Given the description of an element on the screen output the (x, y) to click on. 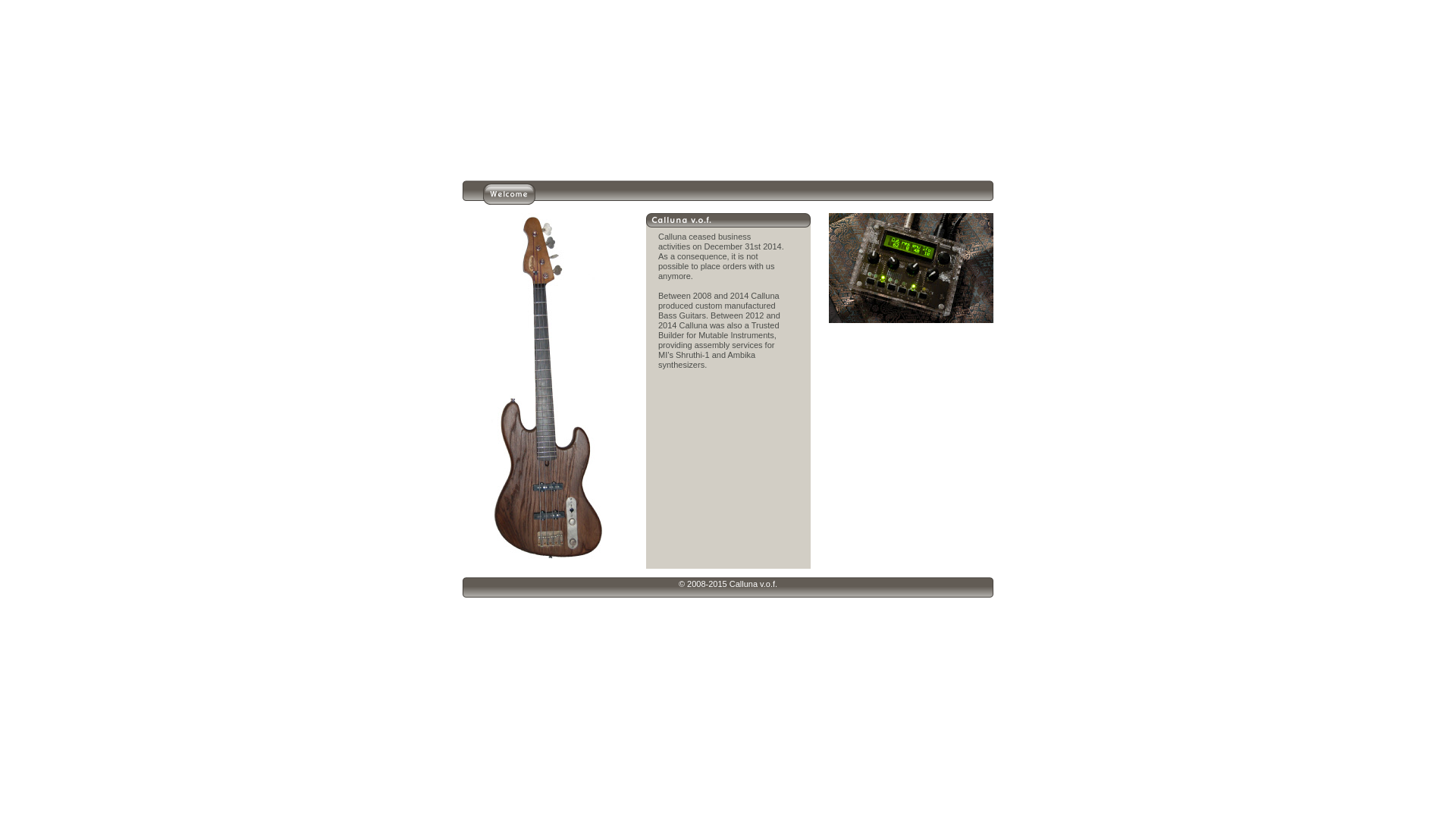
Welcome Element type: hover (509, 200)
